Given the description of an element on the screen output the (x, y) to click on. 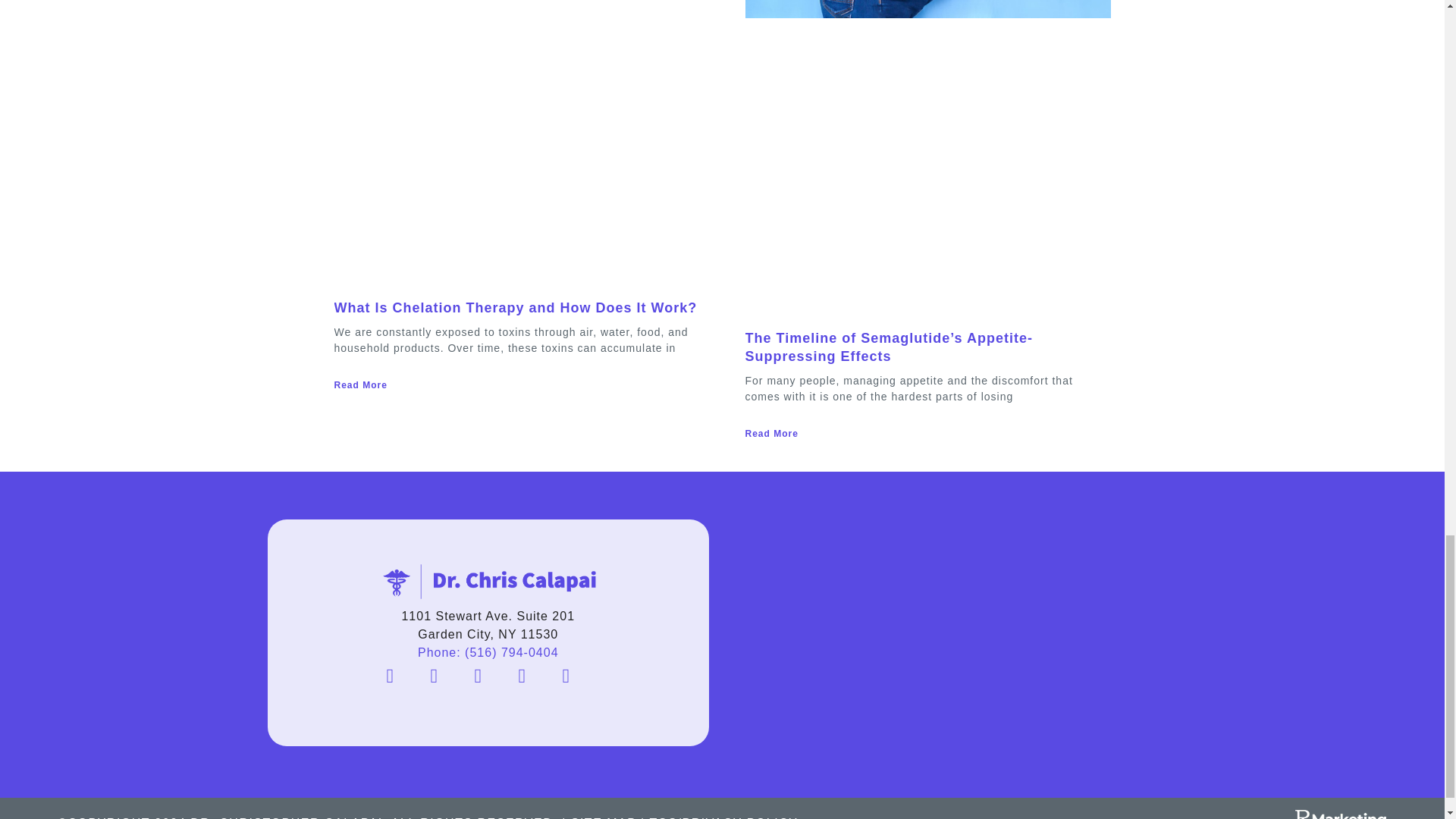
Google Map to Garden City Location (956, 632)
